Given the description of an element on the screen output the (x, y) to click on. 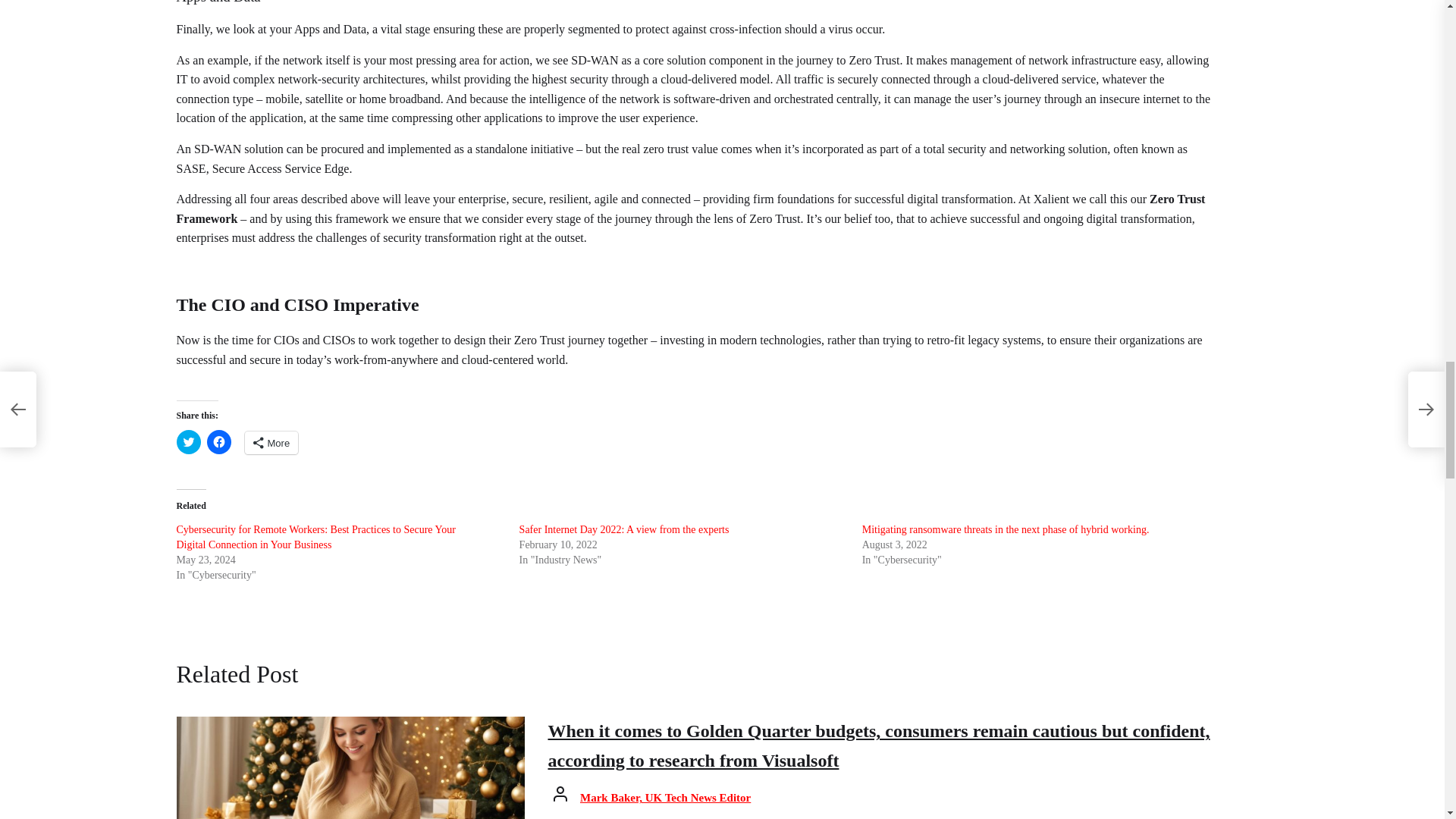
Safer Internet Day 2022: A view from the experts (624, 529)
Click to share on Facebook (218, 441)
Click to share on Twitter (188, 441)
